Given the description of an element on the screen output the (x, y) to click on. 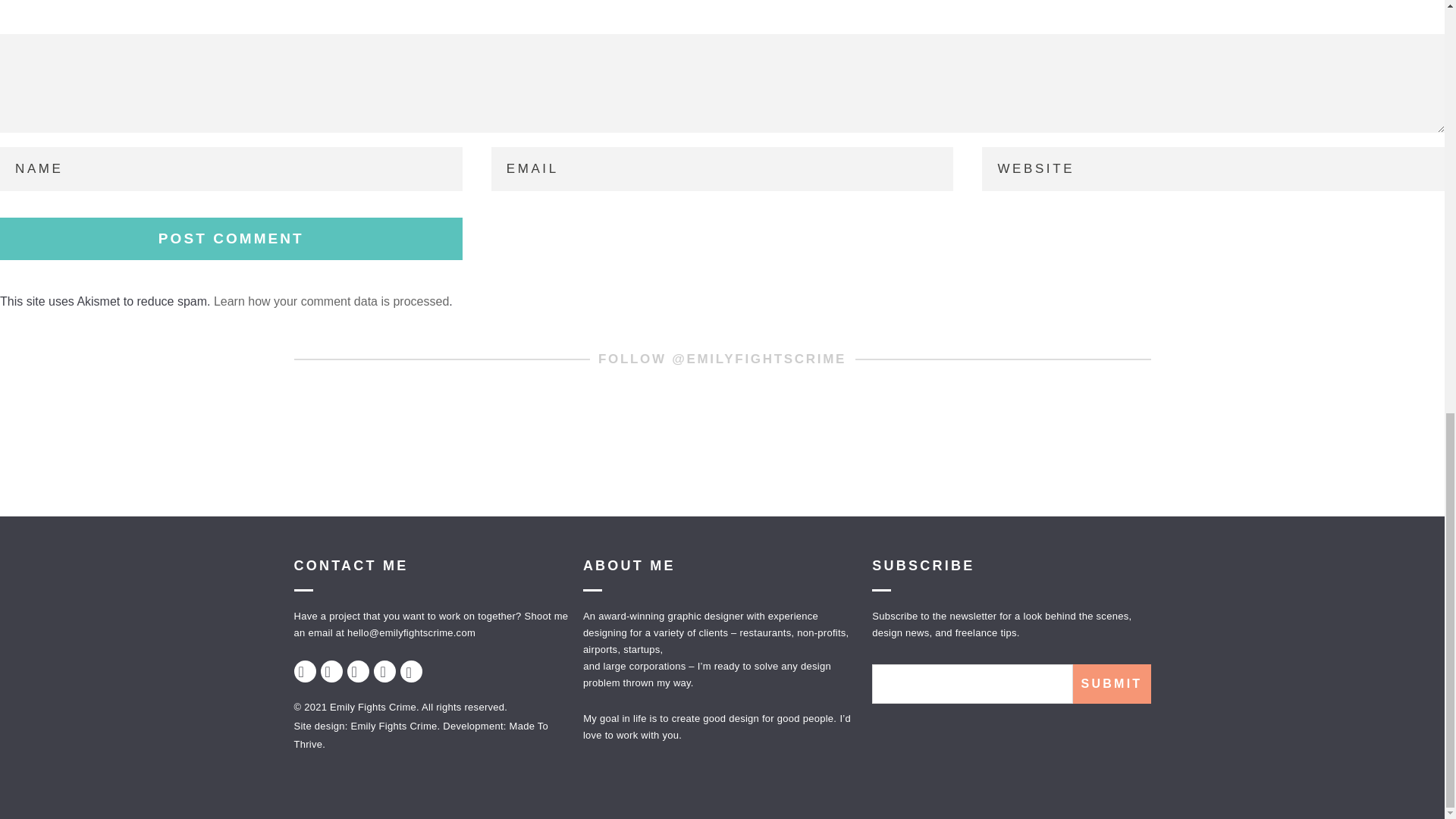
Submit (1110, 683)
Post Comment (231, 238)
Learn how your comment data is processed (331, 300)
Post Comment (231, 238)
Made To Thrive. (421, 735)
